Given the description of an element on the screen output the (x, y) to click on. 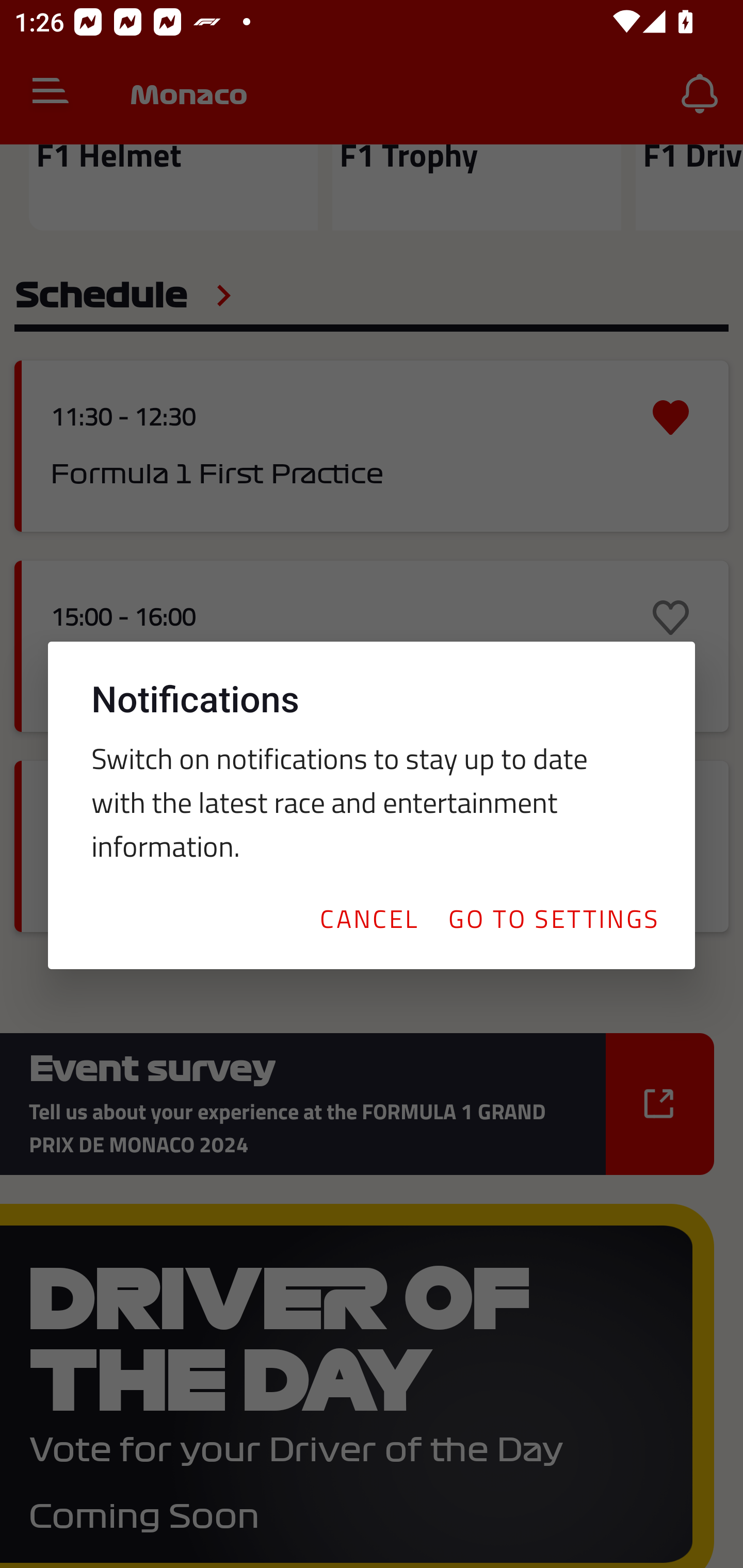
CANCEL (367, 917)
GO TO SETTINGS (552, 917)
